Given the description of an element on the screen output the (x, y) to click on. 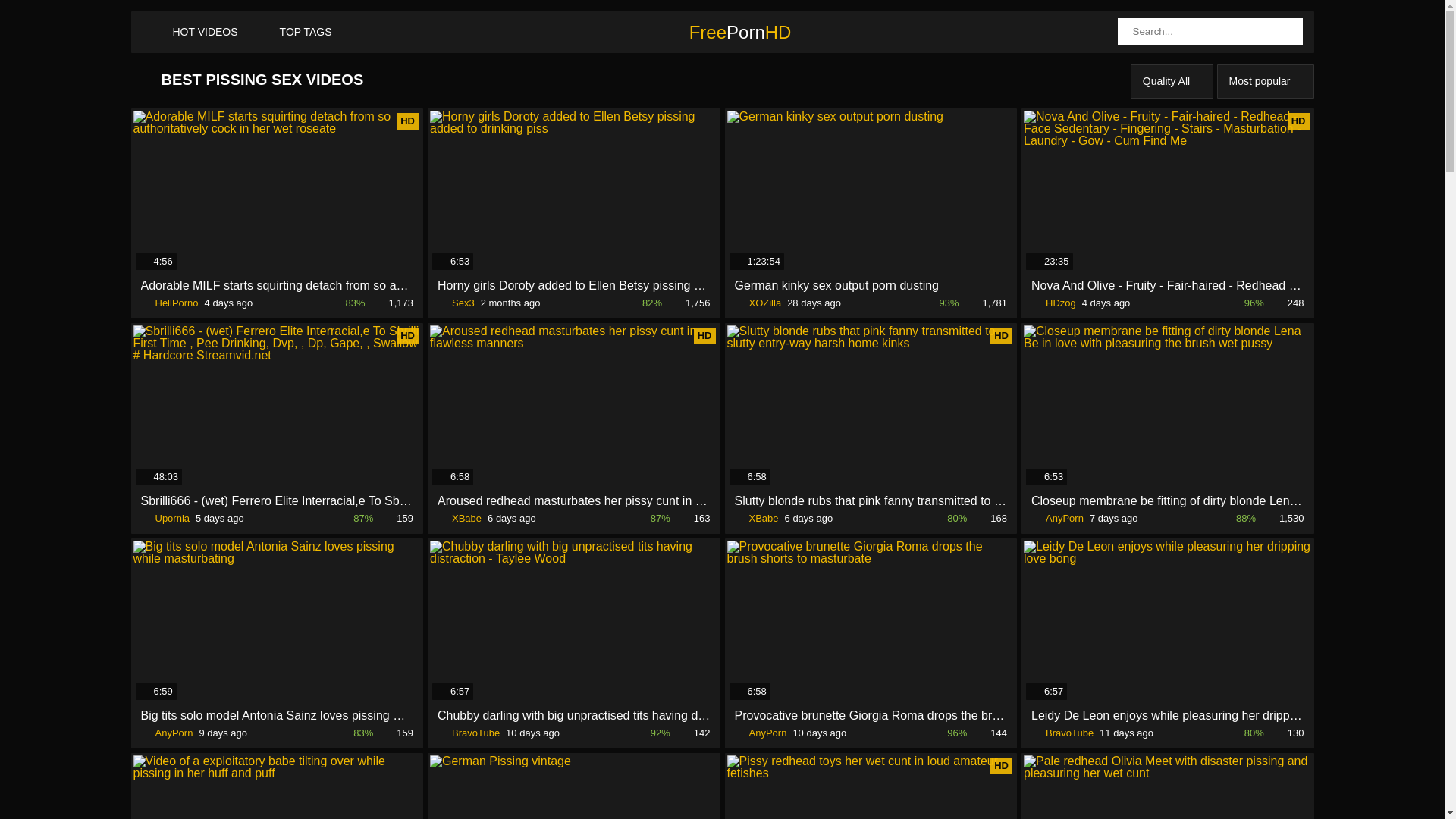
HDzog Element type: text (1053, 302)
Sex3 Element type: text (455, 302)
FreePornHD Element type: text (728, 32)
HellPorno Element type: text (169, 302)
Search X Videos Element type: hover (1209, 31)
AnyPorn Element type: text (760, 732)
AnyPorn Element type: text (1057, 518)
German kinky sex output porn dusting Element type: text (870, 285)
Leidy De Leon enjoys while pleasuring her dripping love bong Element type: text (1167, 715)
XBabe Element type: text (756, 518)
BravoTube Element type: text (468, 732)
HOT VIDEOS Element type: text (190, 32)
XBabe Element type: text (459, 518)
XOZilla Element type: text (757, 302)
AnyPorn Element type: text (167, 732)
BravoTube Element type: text (1062, 732)
Upornia Element type: text (165, 518)
